Given the description of an element on the screen output the (x, y) to click on. 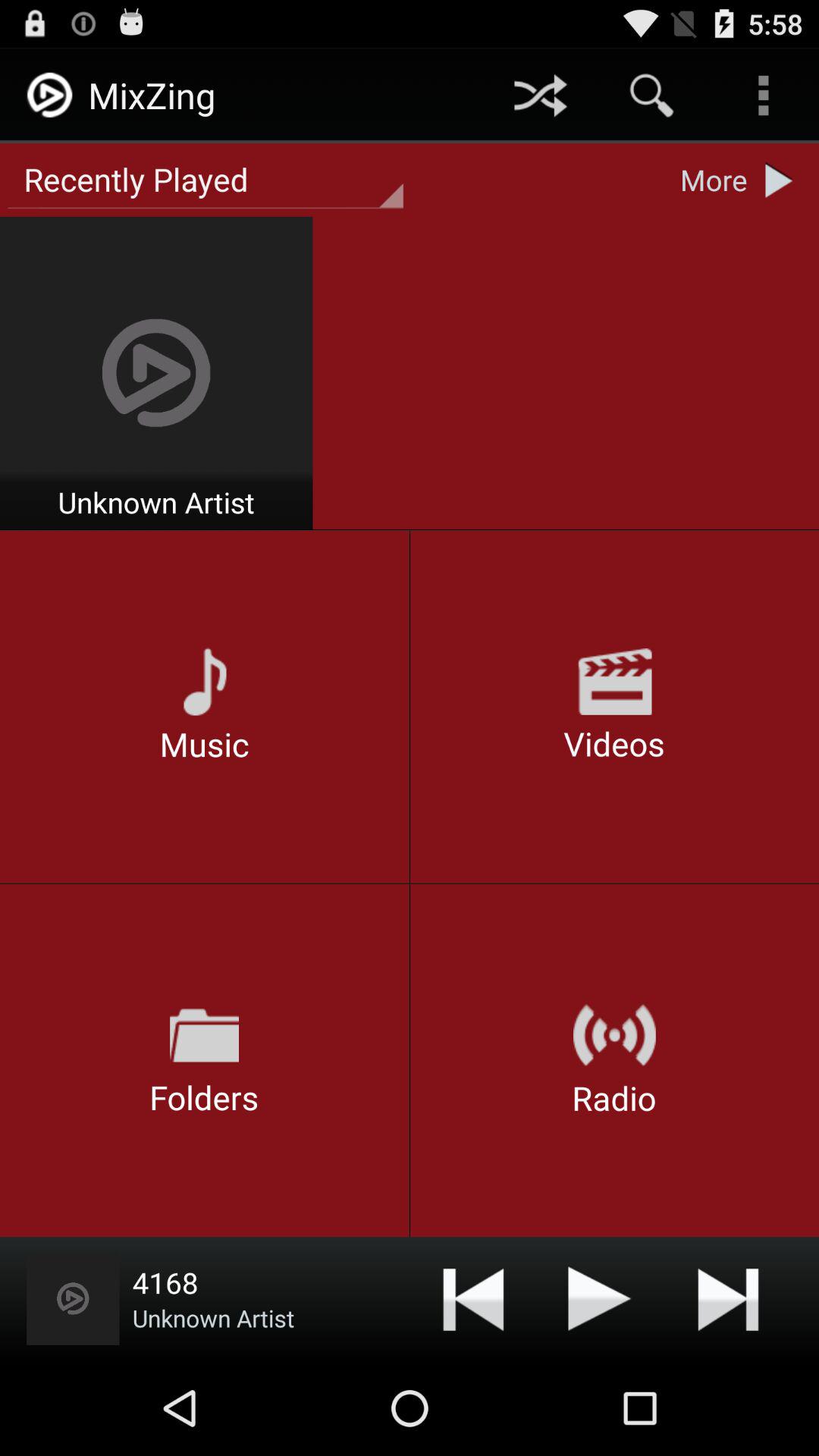
play the music (600, 1298)
